Given the description of an element on the screen output the (x, y) to click on. 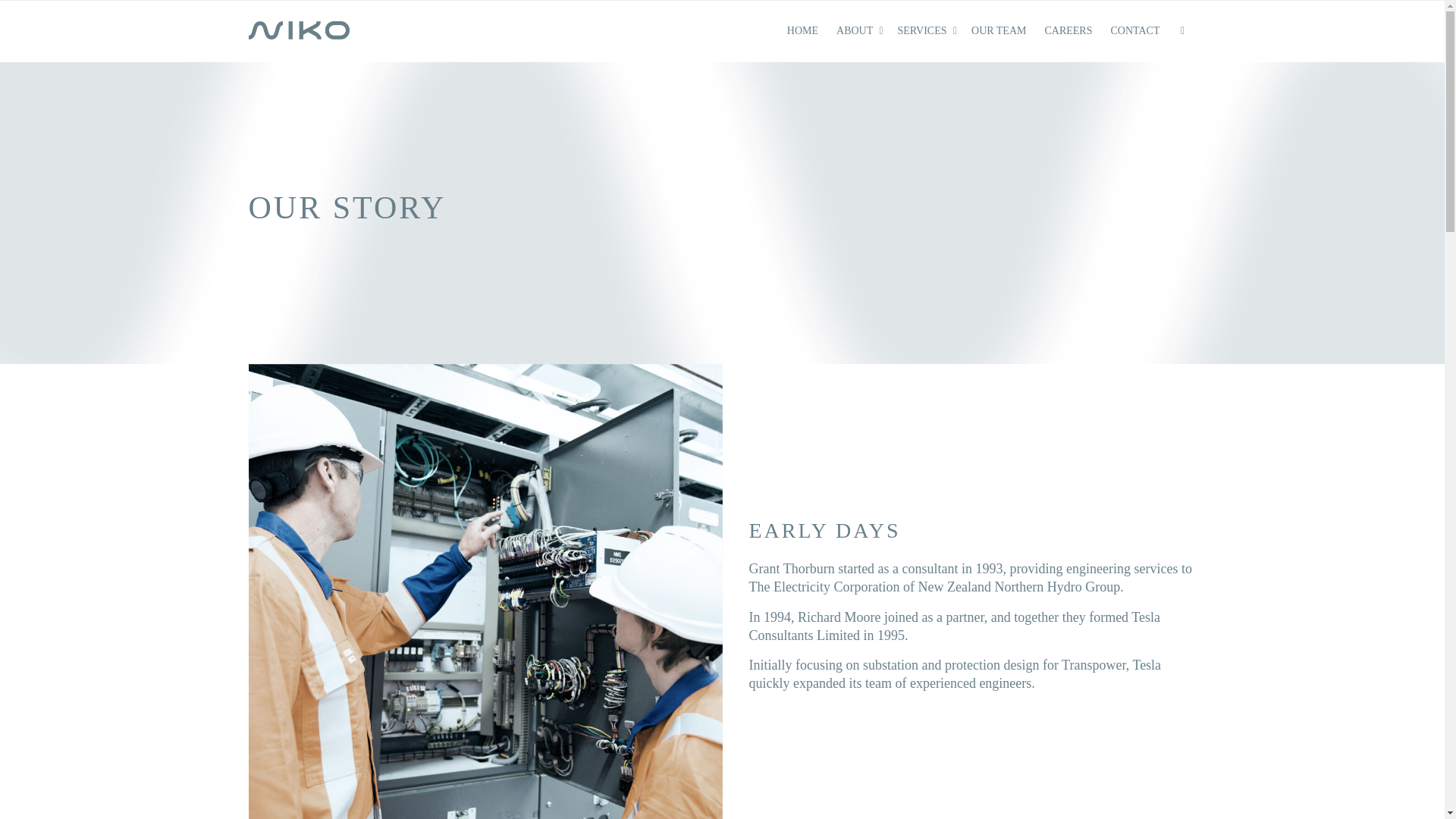
Niko (299, 30)
SERVICES (925, 30)
OUR TEAM (998, 30)
OUR TEAM (998, 30)
SERVICES (925, 30)
